Given the description of an element on the screen output the (x, y) to click on. 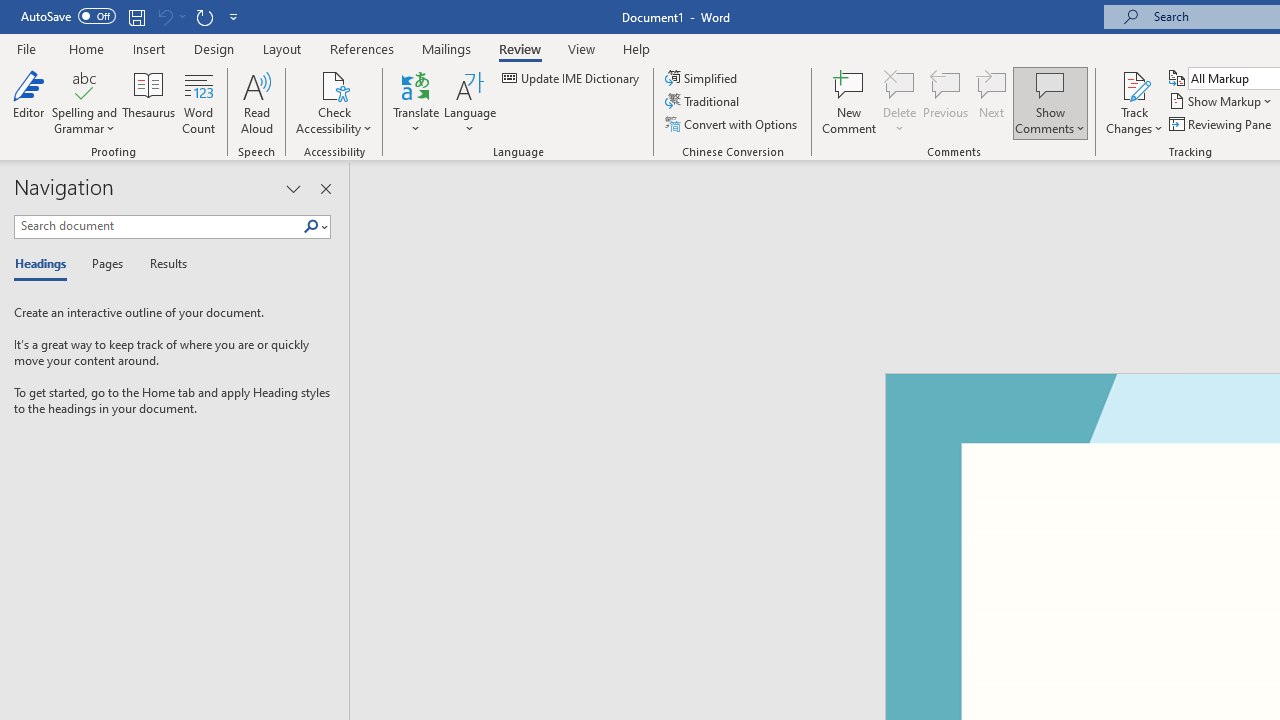
Convert with Options... (732, 124)
Check Accessibility (334, 102)
Next (991, 102)
Check Accessibility (334, 84)
Translate (415, 102)
Simplified (702, 78)
Results (161, 264)
Editor (28, 102)
Show Comments (1050, 102)
Repeat Doc Close (204, 15)
Can't Undo (164, 15)
Show Markup (1222, 101)
